Given the description of an element on the screen output the (x, y) to click on. 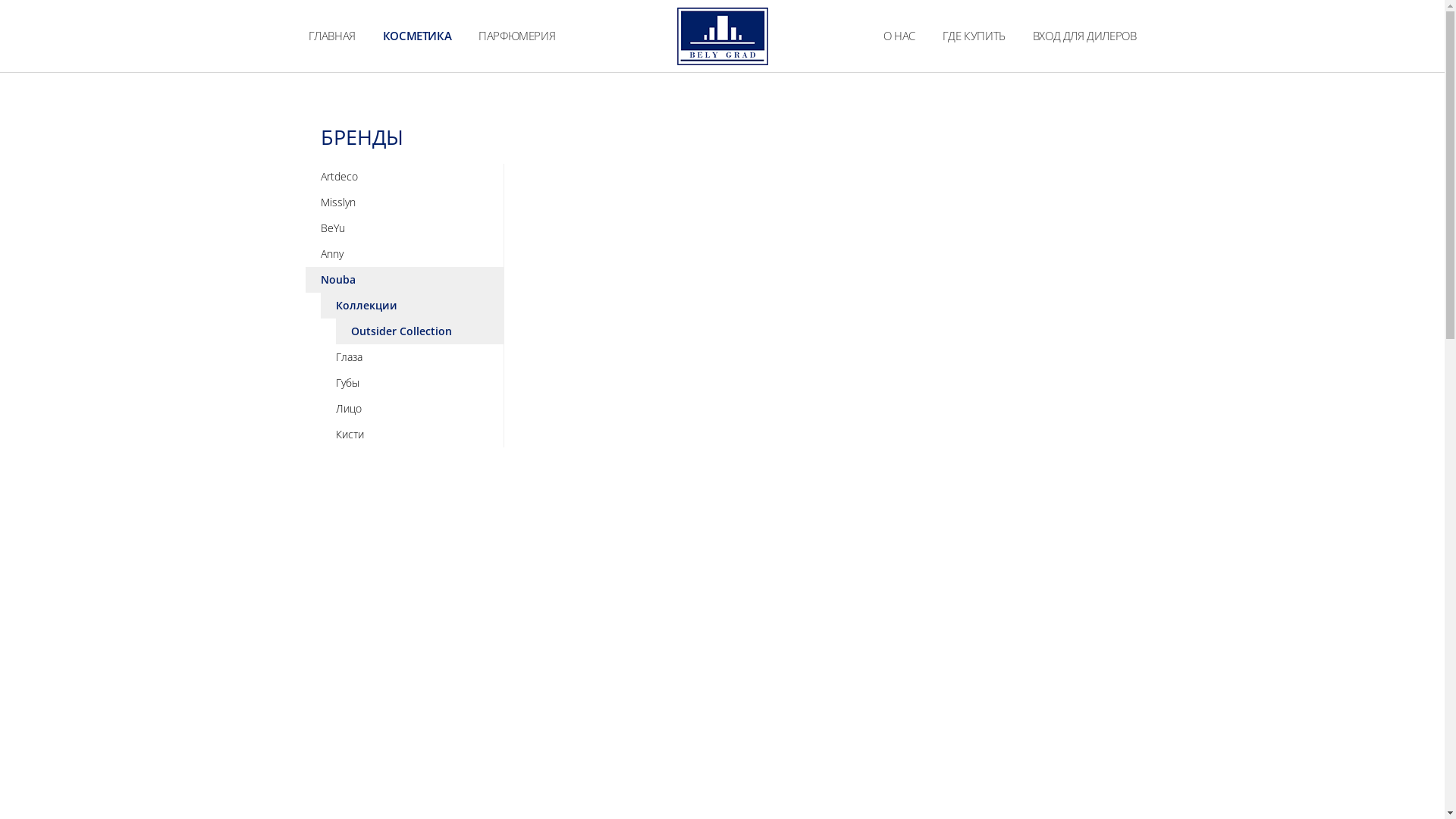
Outsider Collection Element type: text (419, 331)
Nouba Element type: text (403, 279)
Misslyn Element type: text (403, 202)
BeYu Element type: text (403, 228)
Anny Element type: text (403, 253)
Artdeco Element type: text (403, 176)
